Given the description of an element on the screen output the (x, y) to click on. 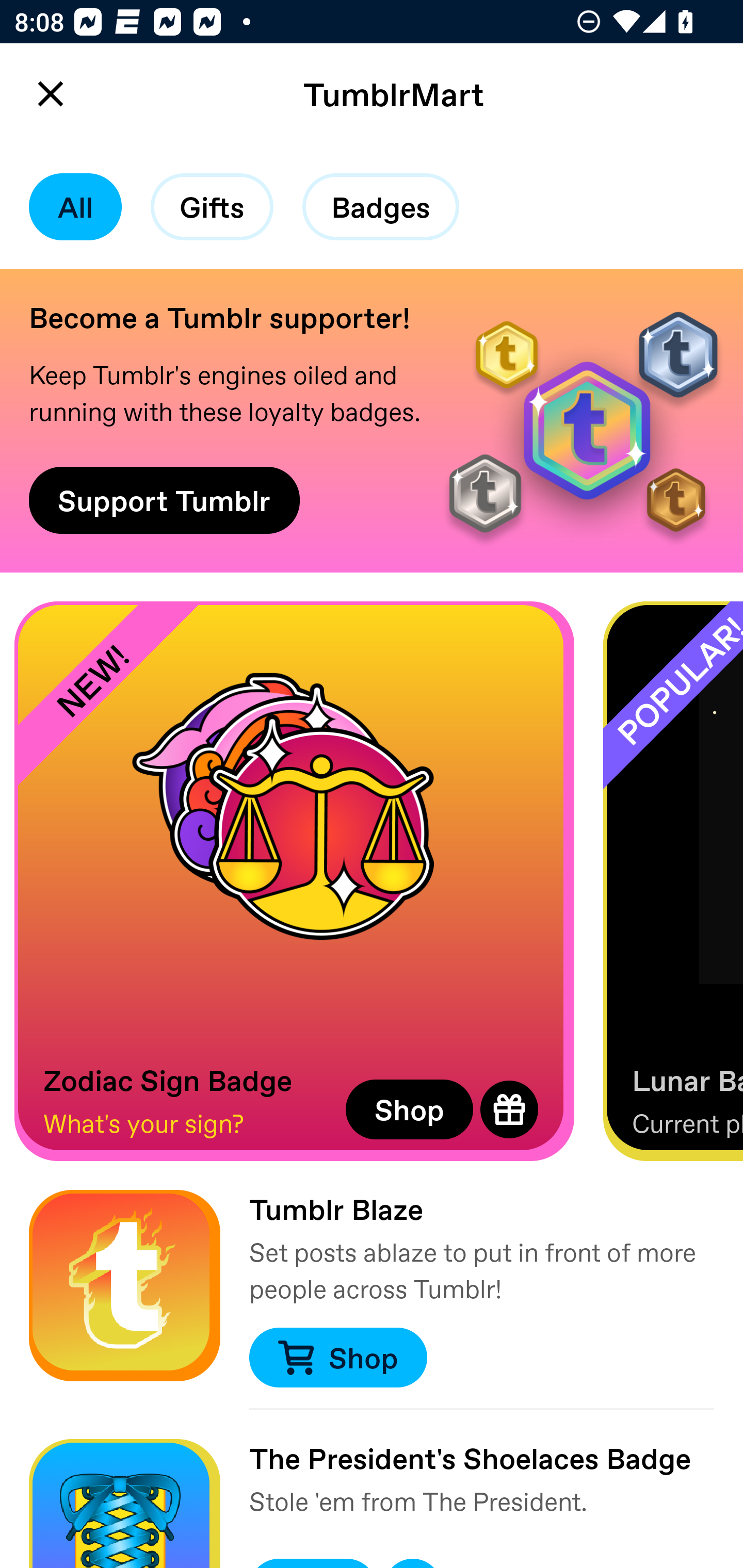
All (74, 206)
Gifts (211, 206)
Badges (380, 206)
Support Tumblr (163, 500)
NEW! Zodiac Sign Badge What's your sign? Shop (294, 881)
Shop (409, 1108)
Shop (337, 1357)
